Given the description of an element on the screen output the (x, y) to click on. 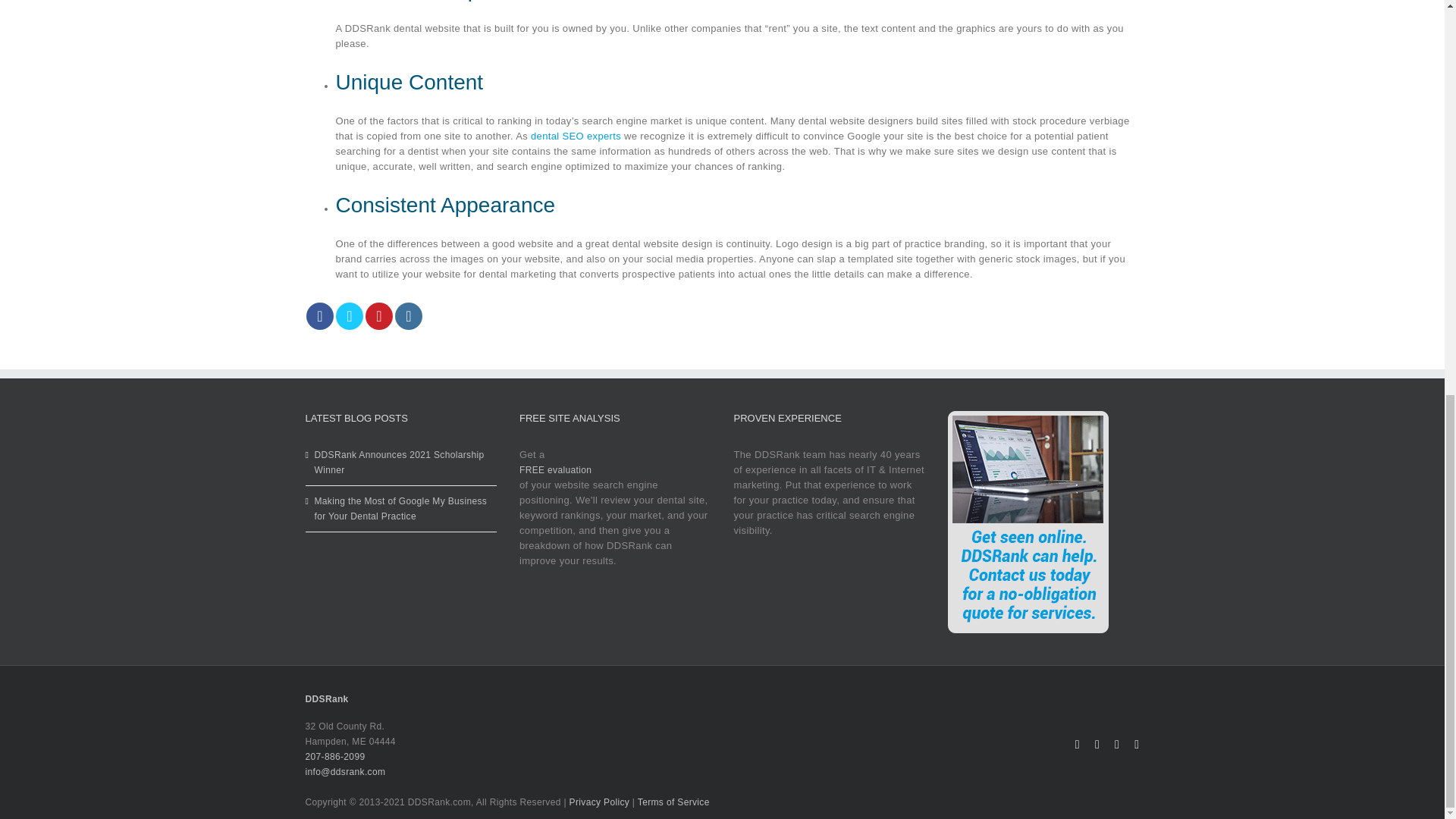
LinkedIn (1136, 744)
Share on Pinterest (379, 316)
Twitter (1096, 744)
Terms of Service (673, 801)
FREE evaluation (555, 470)
Privacy Policy (599, 801)
Twitter (1096, 744)
Share on LinkedIn (408, 316)
Share on Twitter (349, 316)
Facebook (1077, 744)
Facebook (1077, 744)
DDSRank (325, 698)
207-886-2099 (334, 756)
YouTube (1117, 744)
dental SEO experts (576, 135)
